Given the description of an element on the screen output the (x, y) to click on. 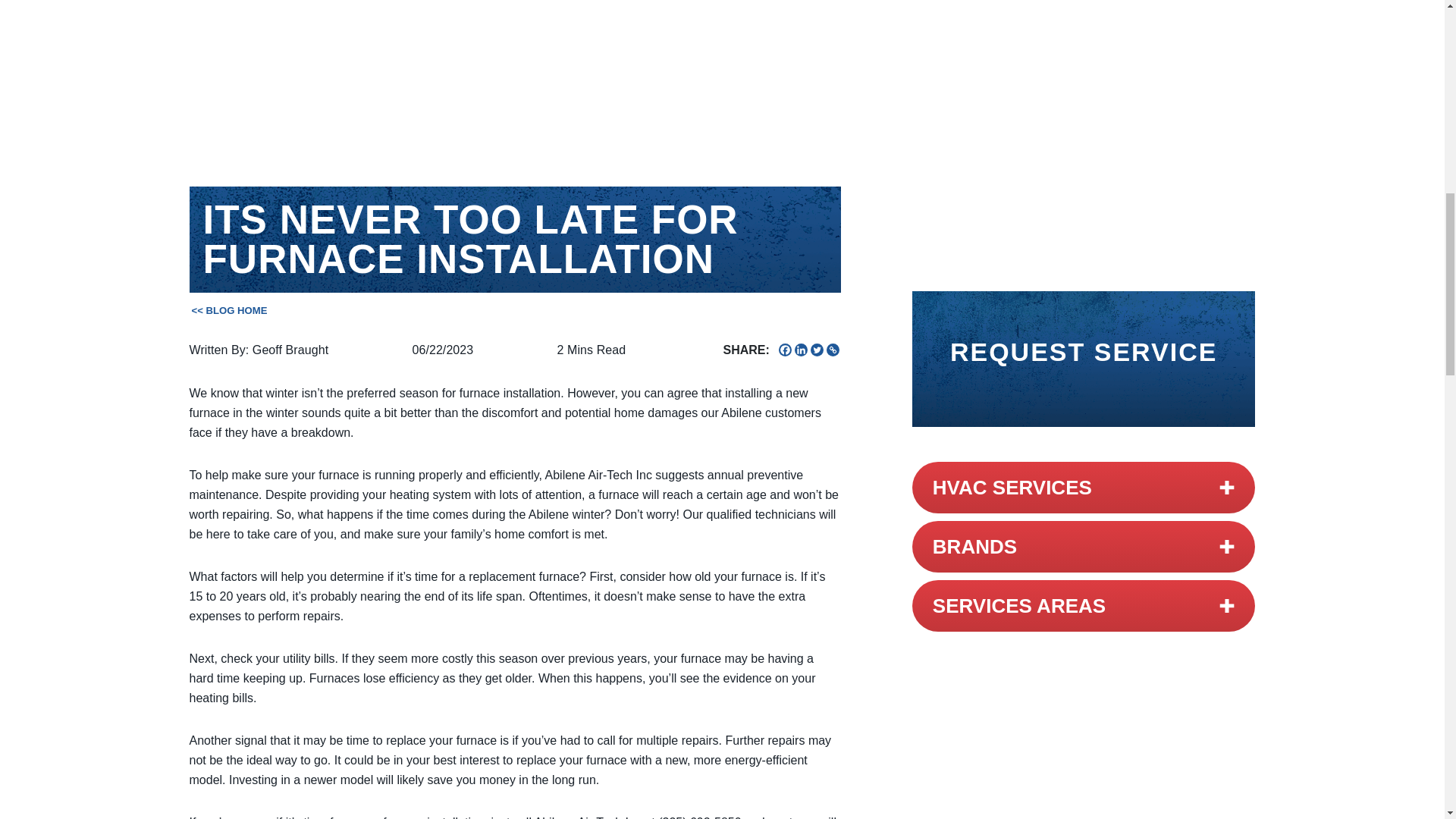
Facebook (785, 349)
Linkedin (801, 349)
Twitter (817, 349)
Copy Link (833, 349)
